Given the description of an element on the screen output the (x, y) to click on. 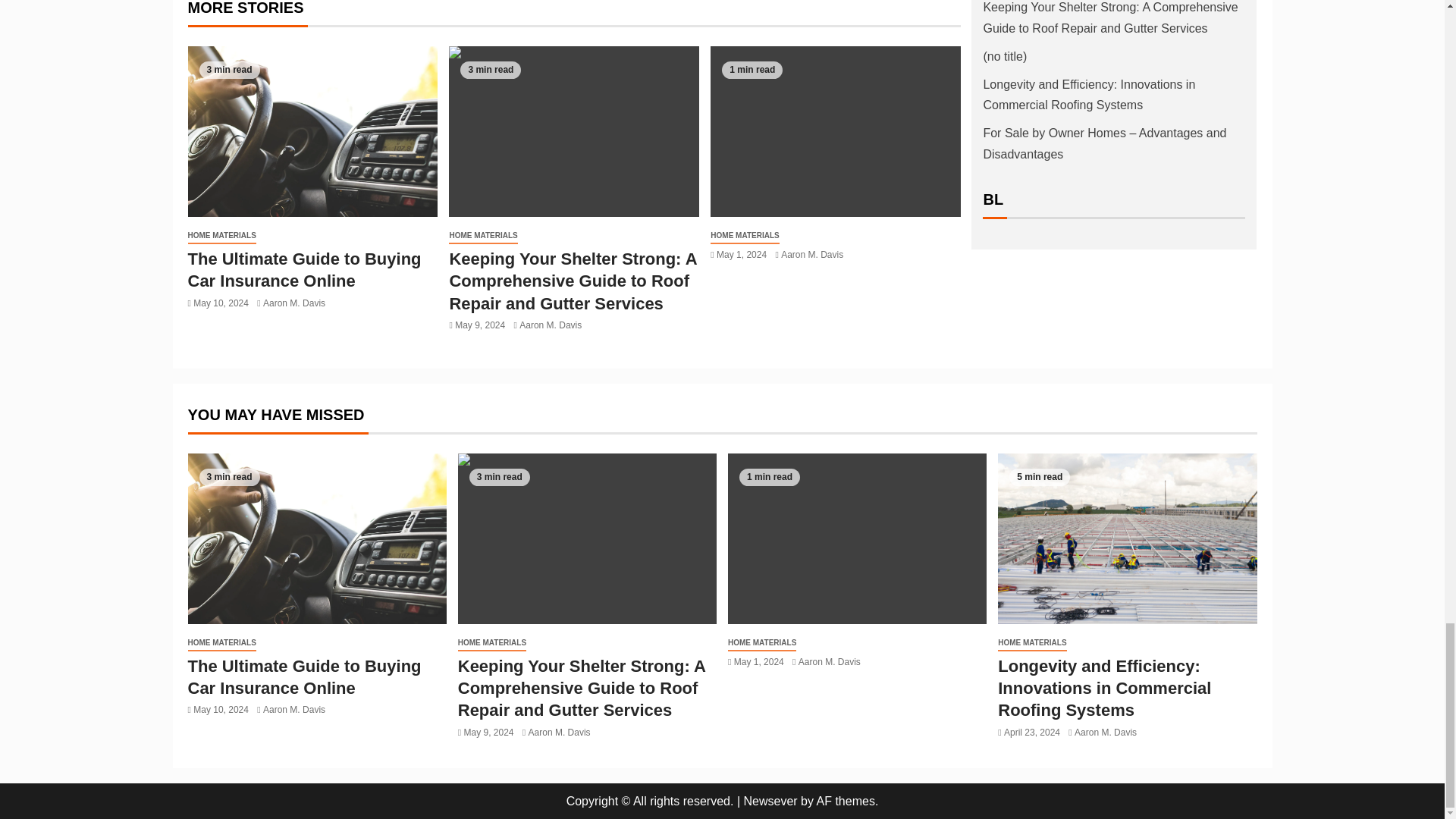
The Ultimate Guide to Buying Car Insurance Online (312, 131)
HOME MATERIALS (221, 236)
